Given the description of an element on the screen output the (x, y) to click on. 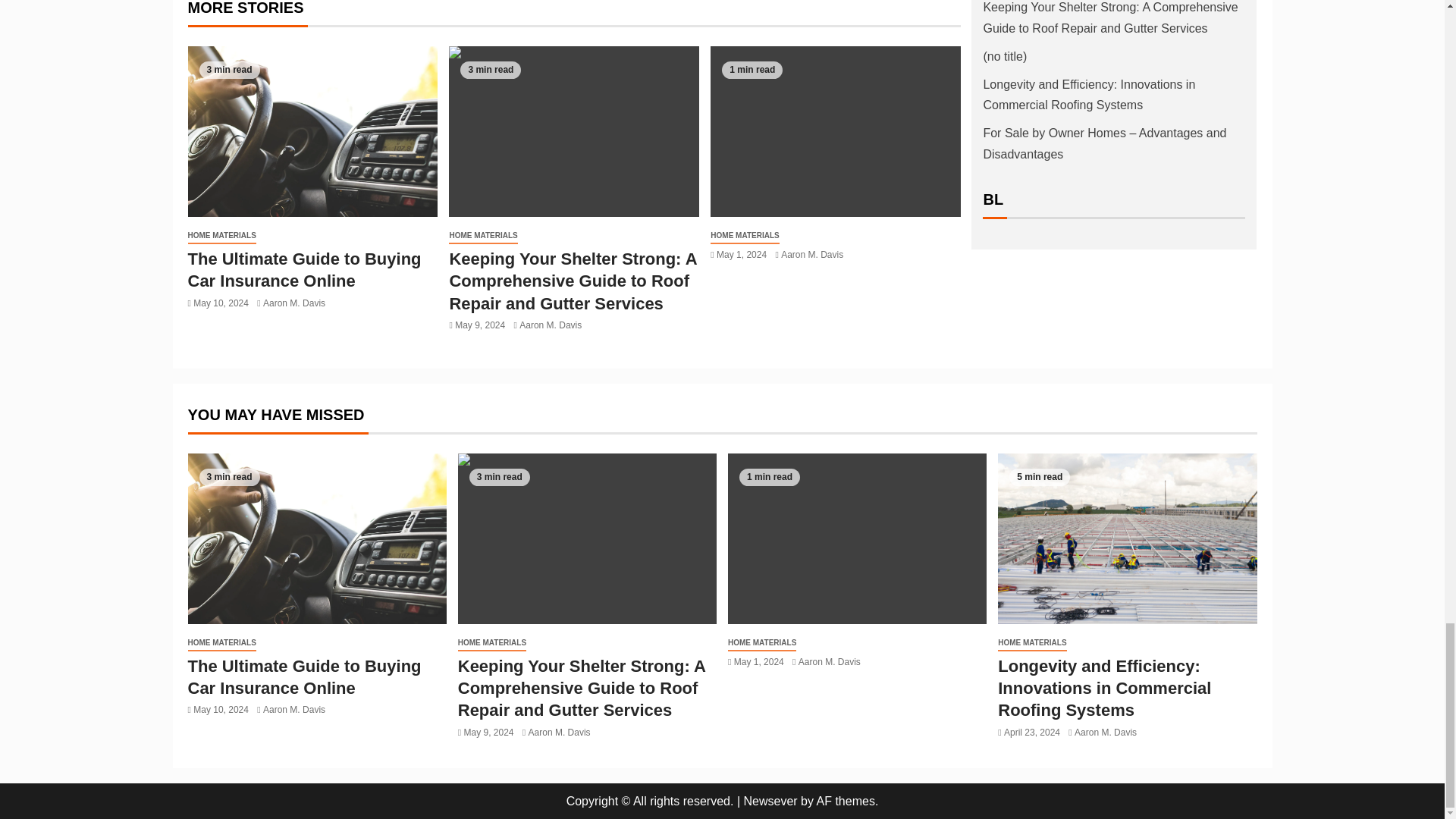
The Ultimate Guide to Buying Car Insurance Online (312, 131)
HOME MATERIALS (221, 236)
